Given the description of an element on the screen output the (x, y) to click on. 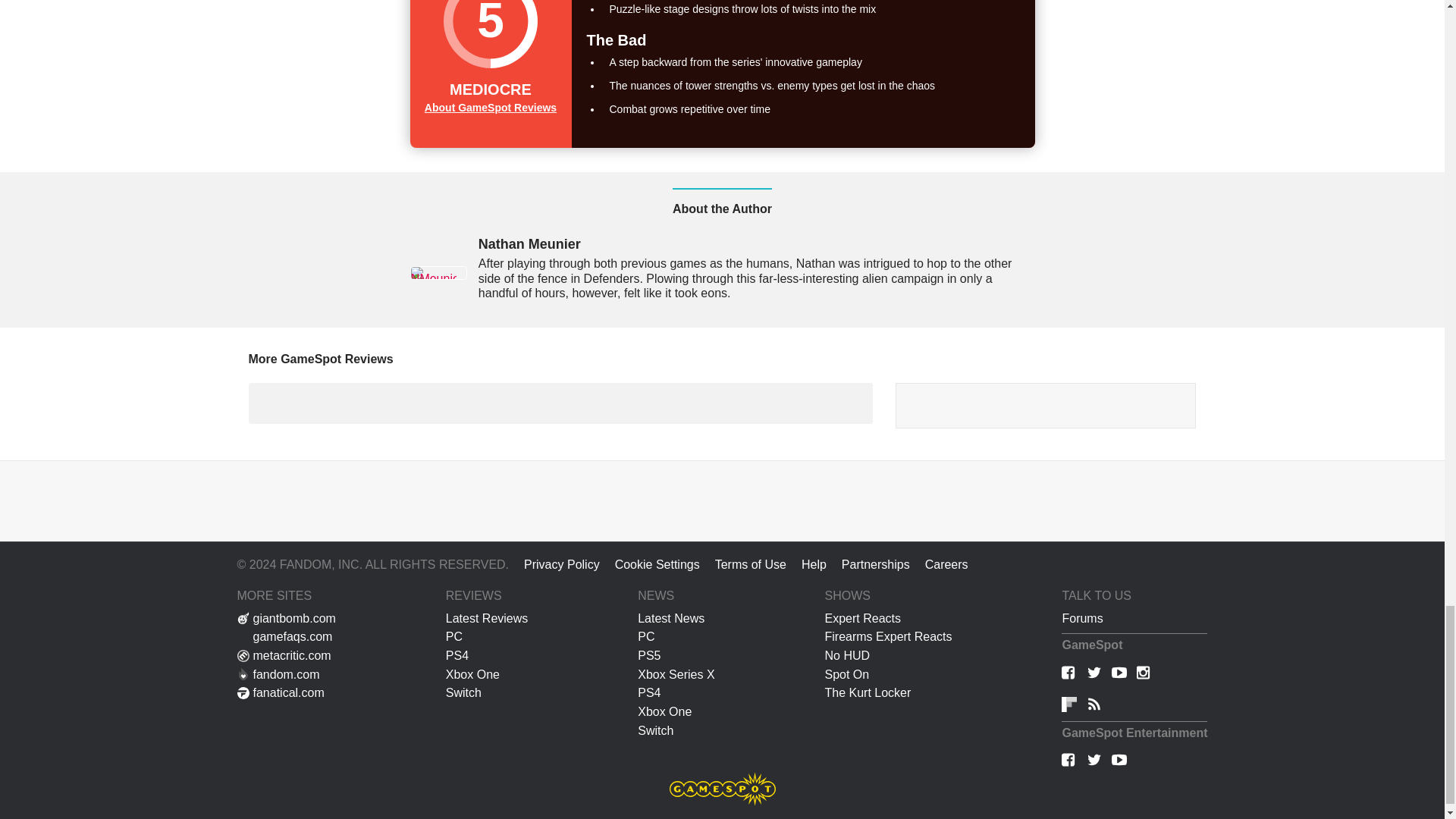
RSS Feeds (1094, 705)
